Given the description of an element on the screen output the (x, y) to click on. 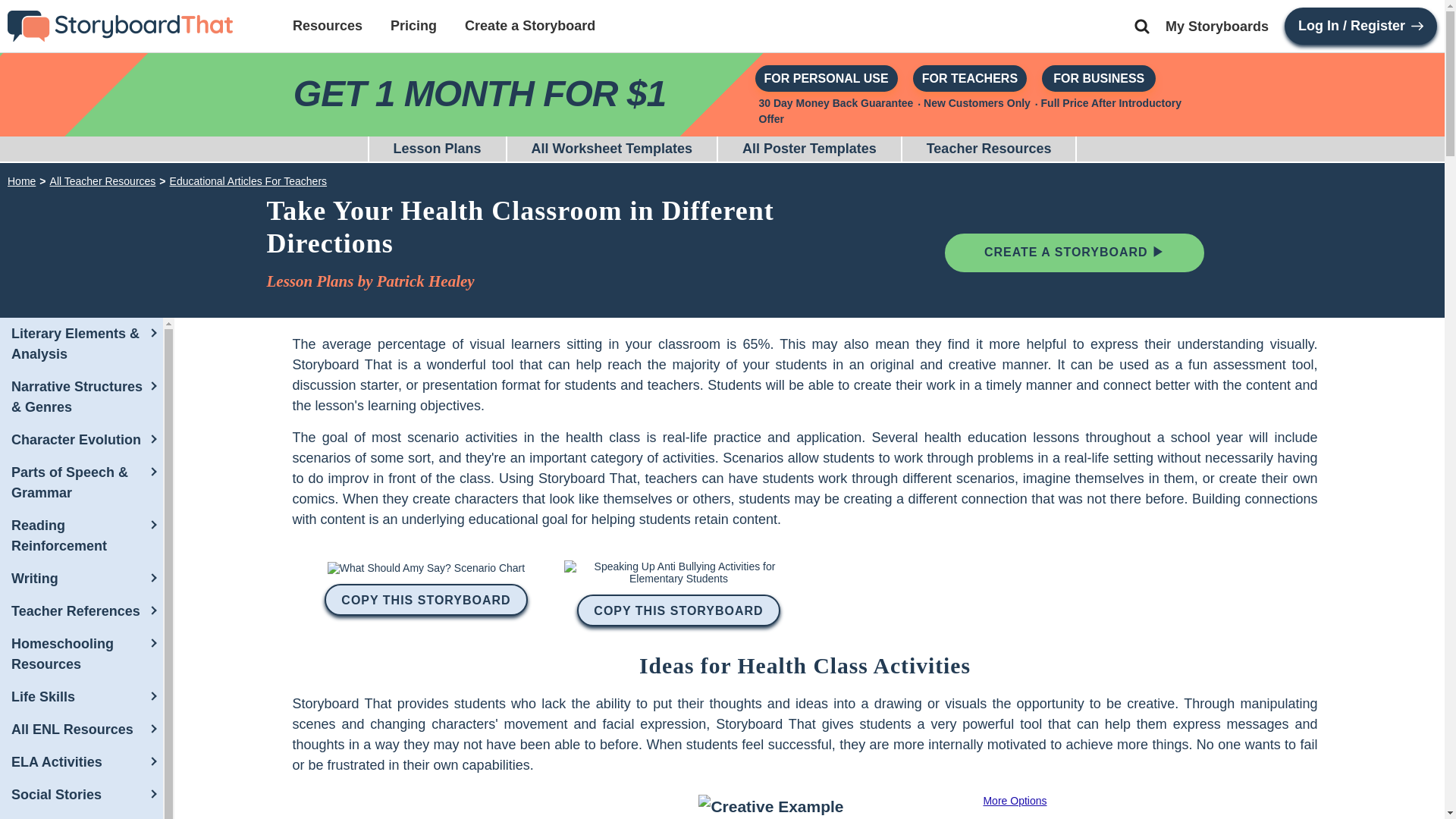
Home (20, 181)
Go to Storyboard Creator (529, 25)
Teacher Resources (988, 148)
View Available Resources for Teachers (327, 25)
Educational Articles For Teachers (248, 181)
FOR BUSINESS (1099, 78)
FOR PERSONAL USE (826, 78)
Create a New Account (1360, 26)
Create a Storyboard Now! (1074, 252)
All Poster Templates (809, 148)
Try Storyboard That Today! (826, 78)
Storyboard That (119, 25)
Create a Storyboard (529, 25)
Search (1142, 26)
View My Storyboards (1217, 26)
